Given the description of an element on the screen output the (x, y) to click on. 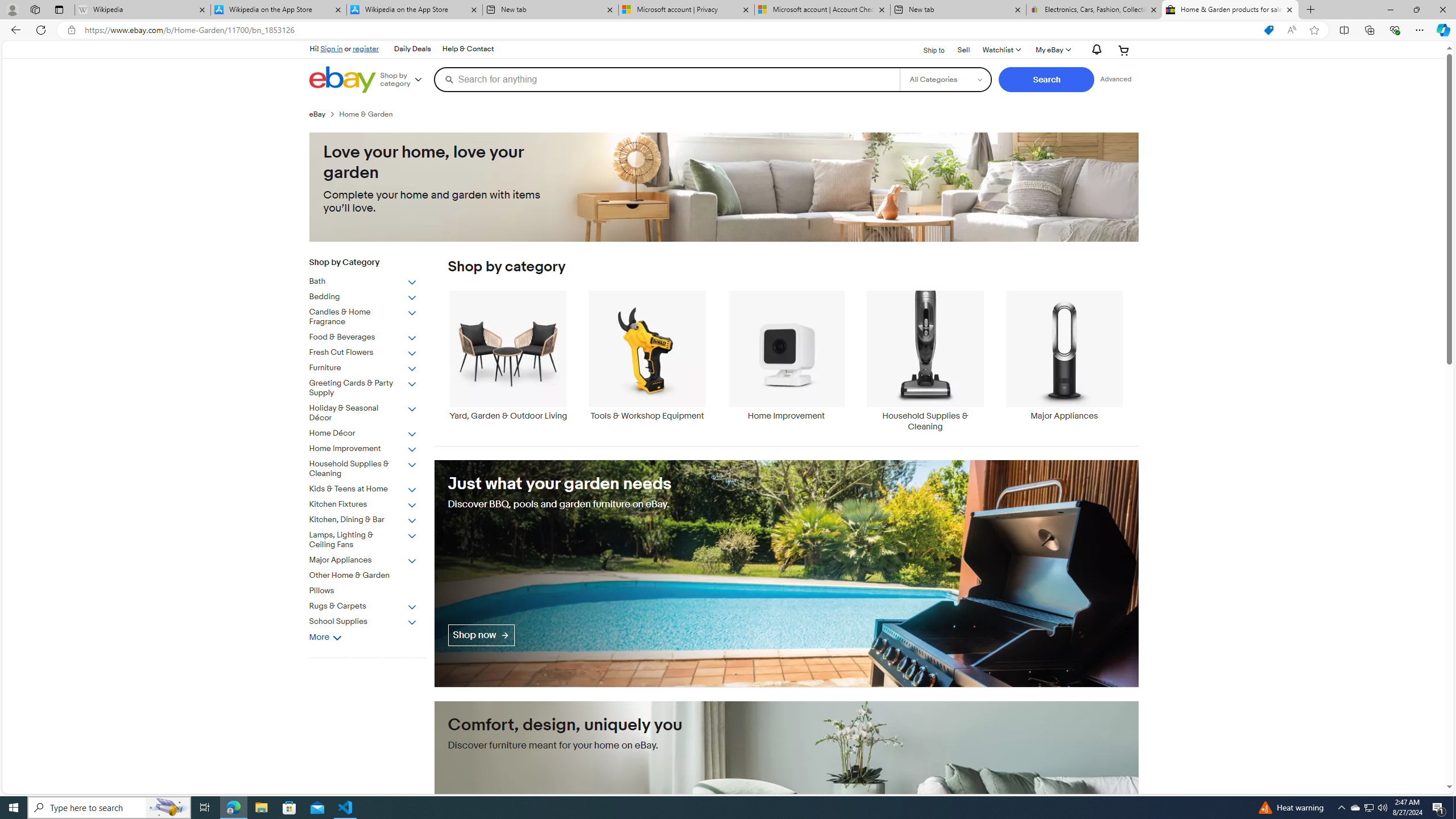
Electronics, Cars, Fashion, Collectibles & More | eBay (1094, 9)
Browser essentials (1394, 29)
Ship to (926, 50)
Watchlist (1000, 49)
Major Appliances (1064, 355)
New Tab (1311, 9)
Furniture (362, 367)
Tab actions menu (58, 9)
eBay (323, 113)
Workspaces (34, 9)
Settings and more (Alt+F) (1419, 29)
Notifications (1093, 49)
Close (1442, 9)
Add this page to favorites (Ctrl+D) (1314, 29)
